Given the description of an element on the screen output the (x, y) to click on. 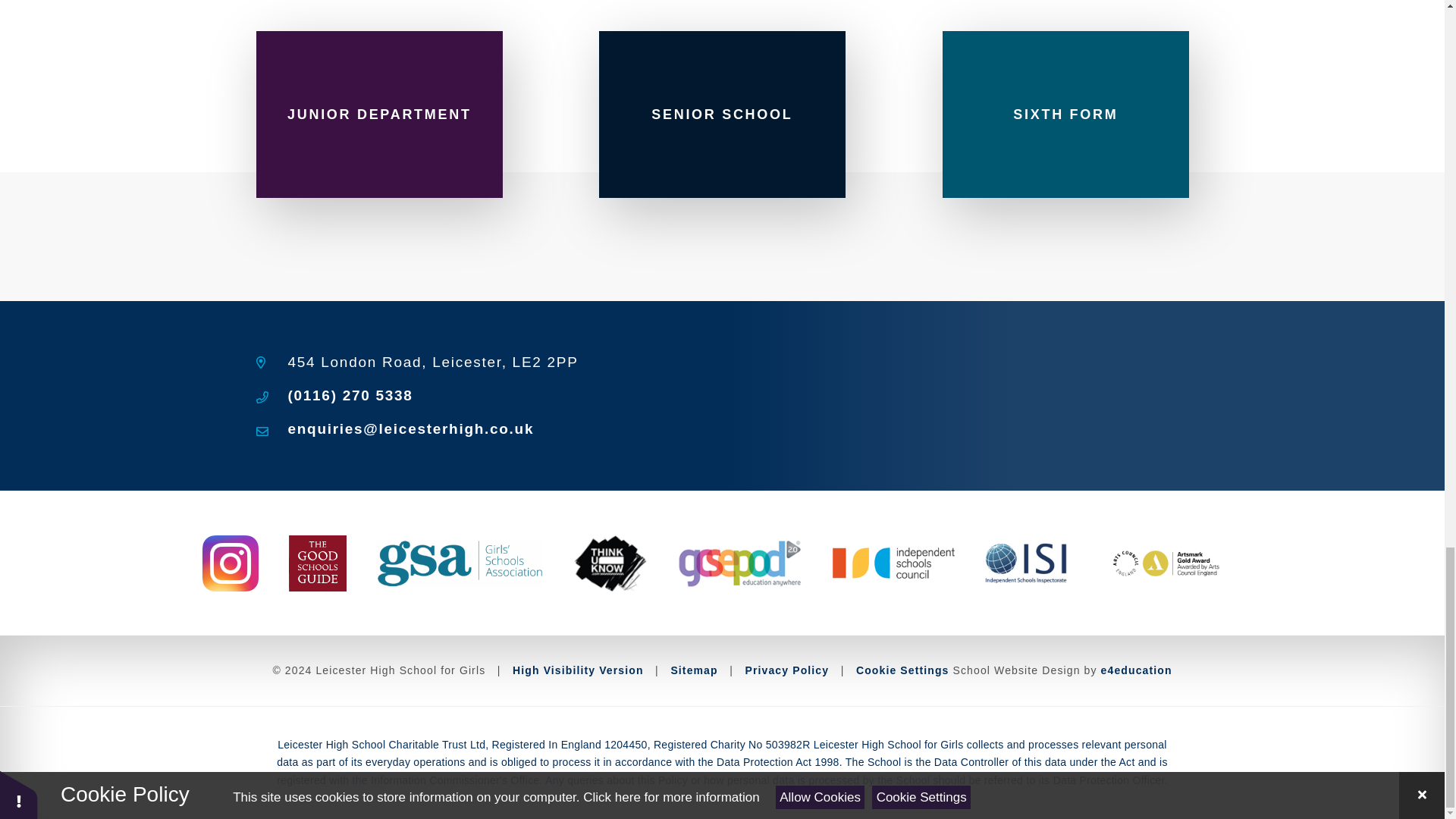
Cookie Settings (902, 670)
